Given the description of an element on the screen output the (x, y) to click on. 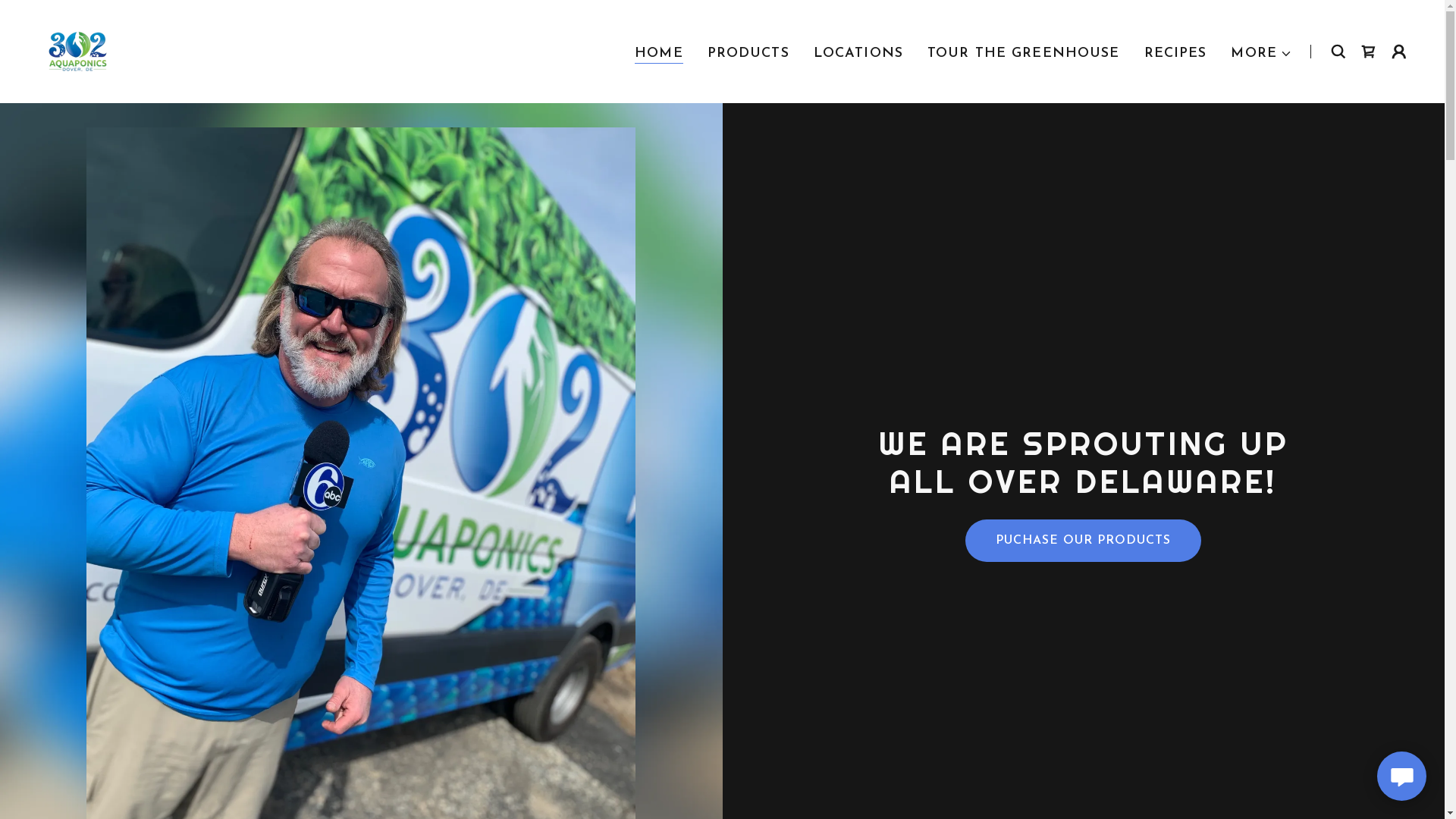
LOCATIONS Element type: text (858, 52)
PRODUCTS Element type: text (747, 52)
TOUR THE GREENHOUSE Element type: text (1023, 52)
MORE Element type: text (1261, 52)
PUCHASE OUR PRODUCTS Element type: text (1083, 540)
RECIPES Element type: text (1175, 52)
HOME Element type: text (658, 52)
